Given the description of an element on the screen output the (x, y) to click on. 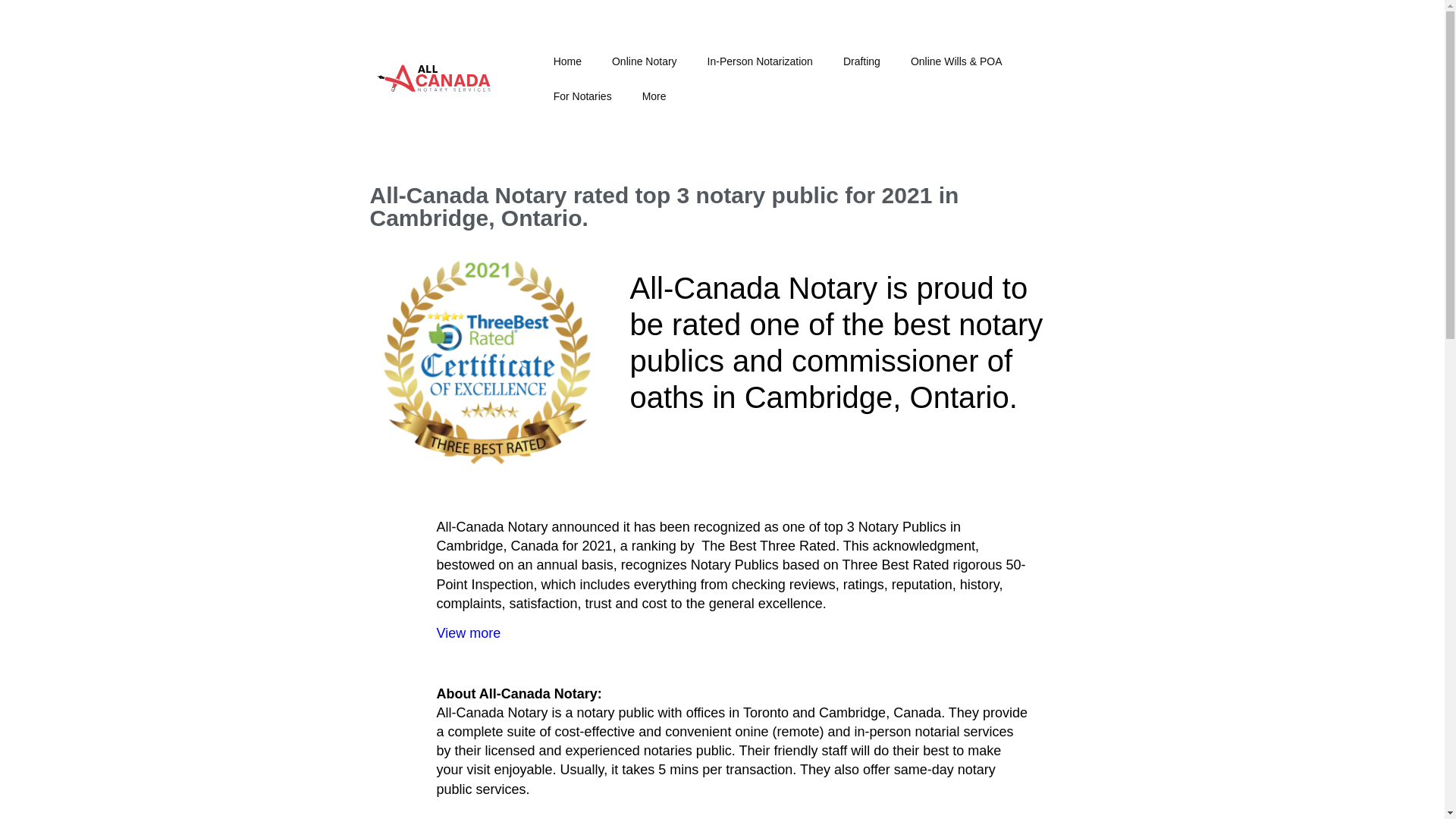
Online Notary (644, 61)
More (654, 95)
View more (467, 632)
In-Person Notarization (760, 61)
Drafting (861, 61)
For Notaries (582, 95)
Home (567, 61)
